Given the description of an element on the screen output the (x, y) to click on. 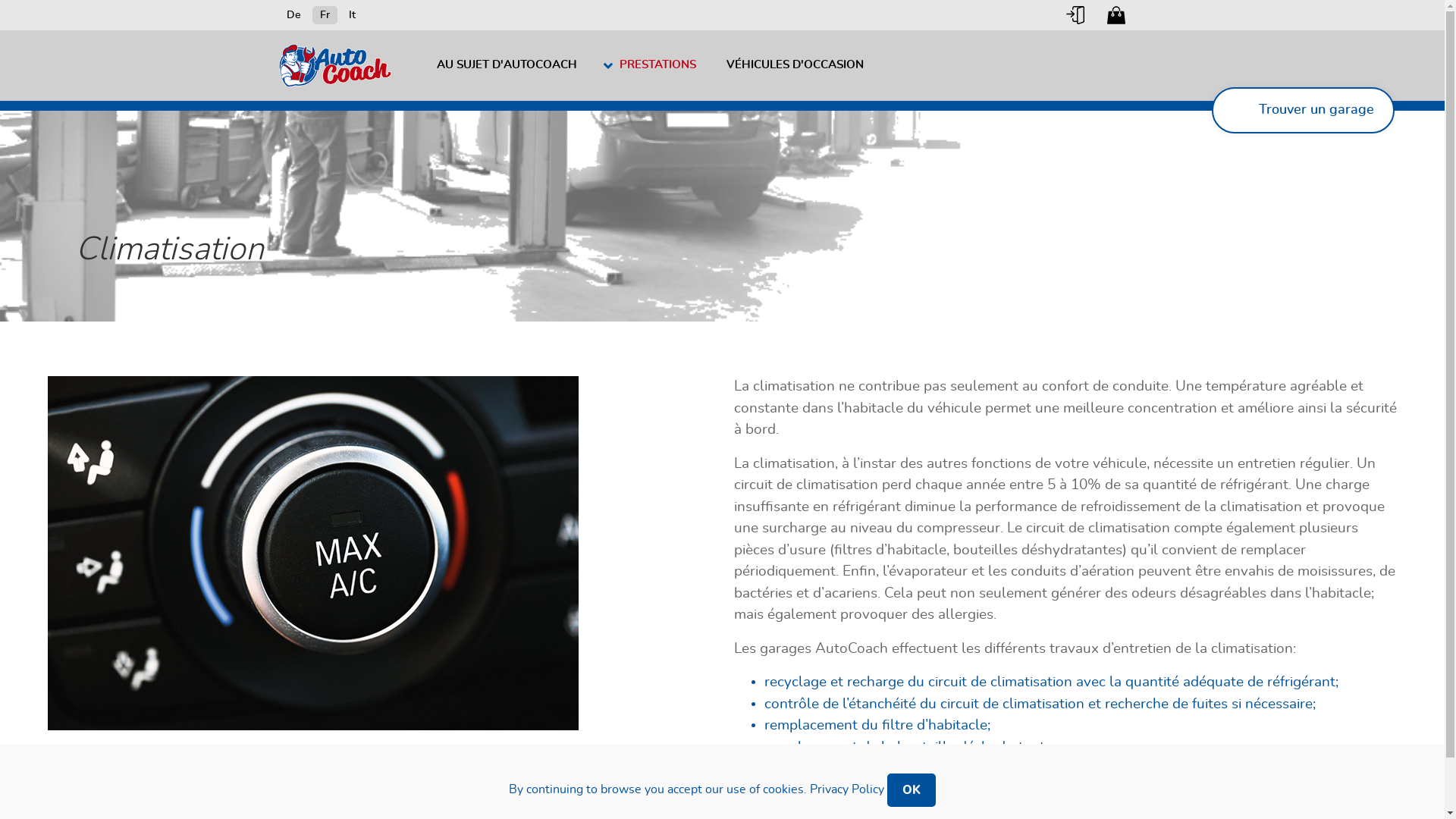
De Element type: text (293, 15)
Trouver un garage Element type: text (1302, 110)
Login Element type: text (1075, 15)
It Element type: text (352, 15)
AU SUJET D'AUTOCOACH Element type: text (506, 65)
Fr Element type: text (324, 15)
Contact Element type: text (1157, 15)
OK Element type: text (911, 789)
PRESTATIONS Element type: text (650, 65)
Shop Element type: text (1116, 15)
